Given the description of an element on the screen output the (x, y) to click on. 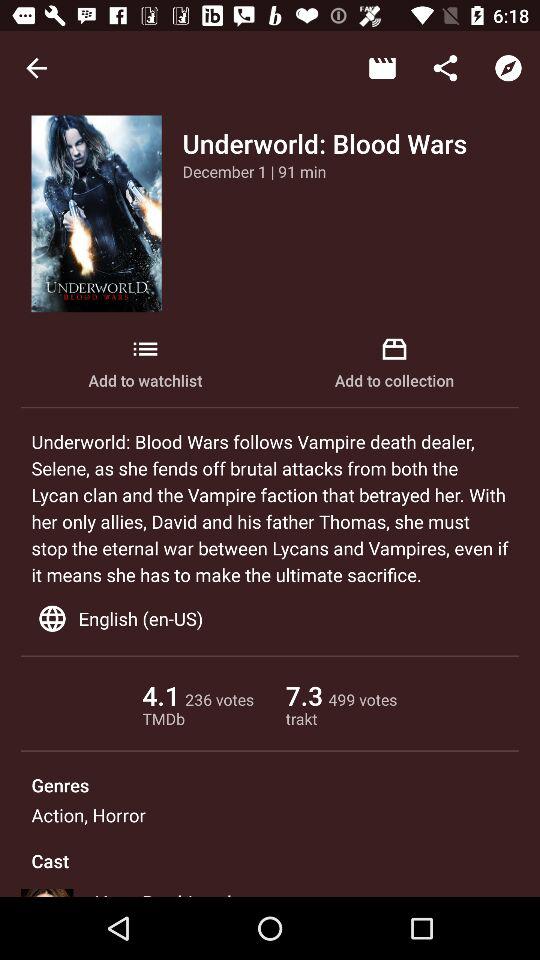
select the action, horror (88, 814)
